Given the description of an element on the screen output the (x, y) to click on. 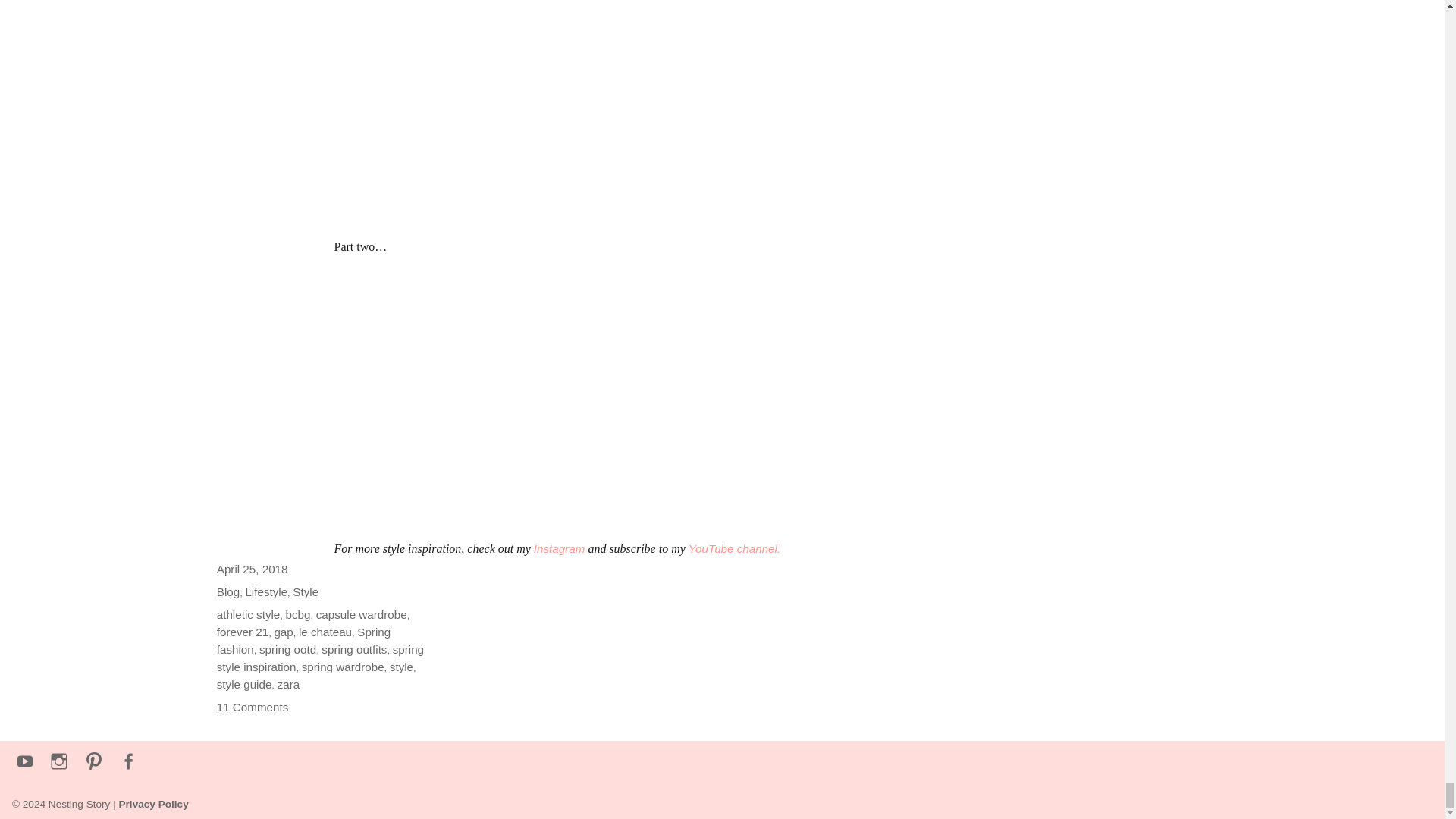
Nesting Story on Pinterest (94, 762)
Nesting Story on Instagram (60, 762)
Nesting Story on Facebook (129, 762)
Nesting Story on YouTube (25, 762)
